Given the description of an element on the screen output the (x, y) to click on. 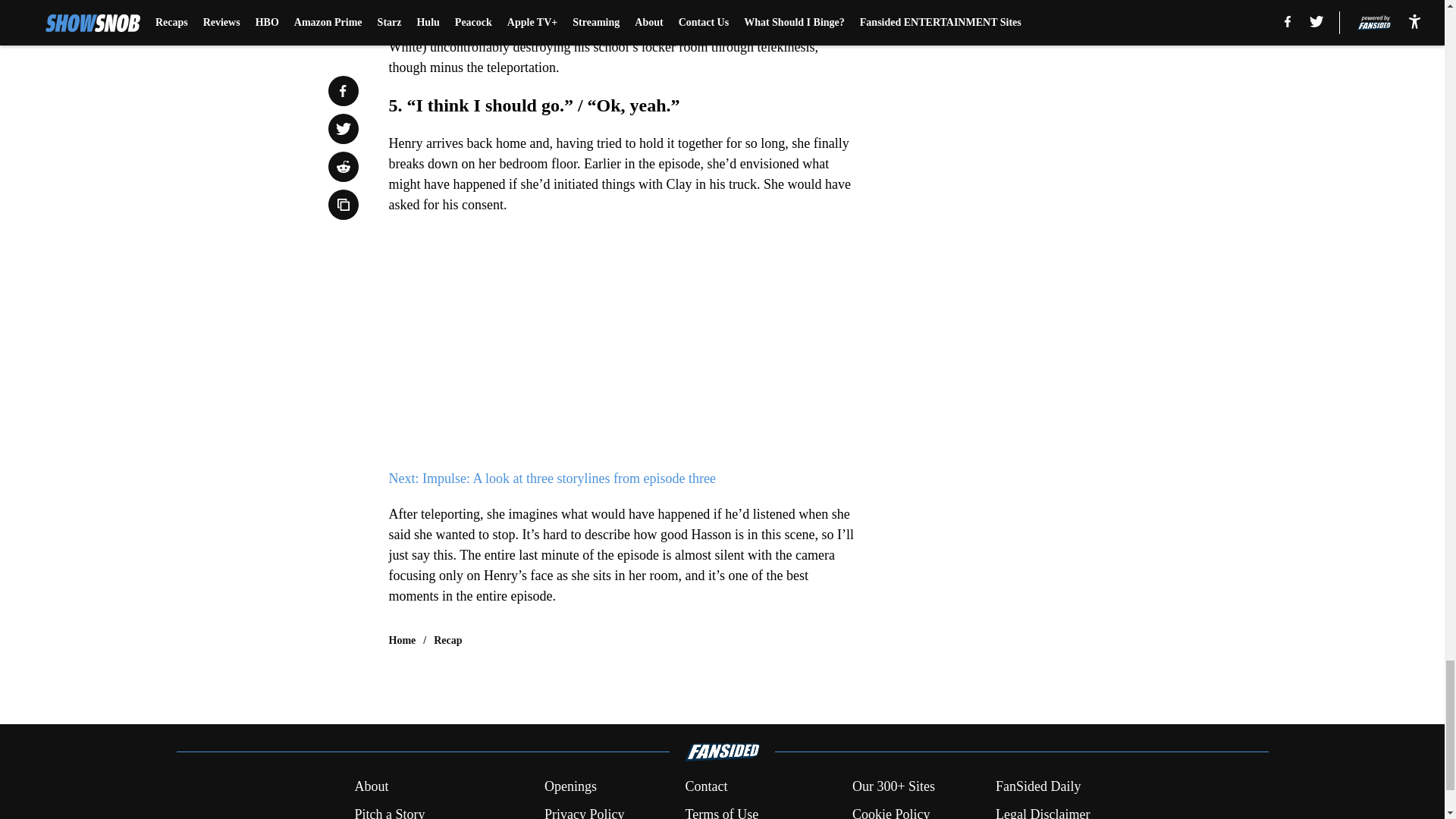
Recap (447, 640)
About (370, 786)
Next: Impulse: A look at three storylines from episode three (551, 478)
Home (401, 640)
